Given the description of an element on the screen output the (x, y) to click on. 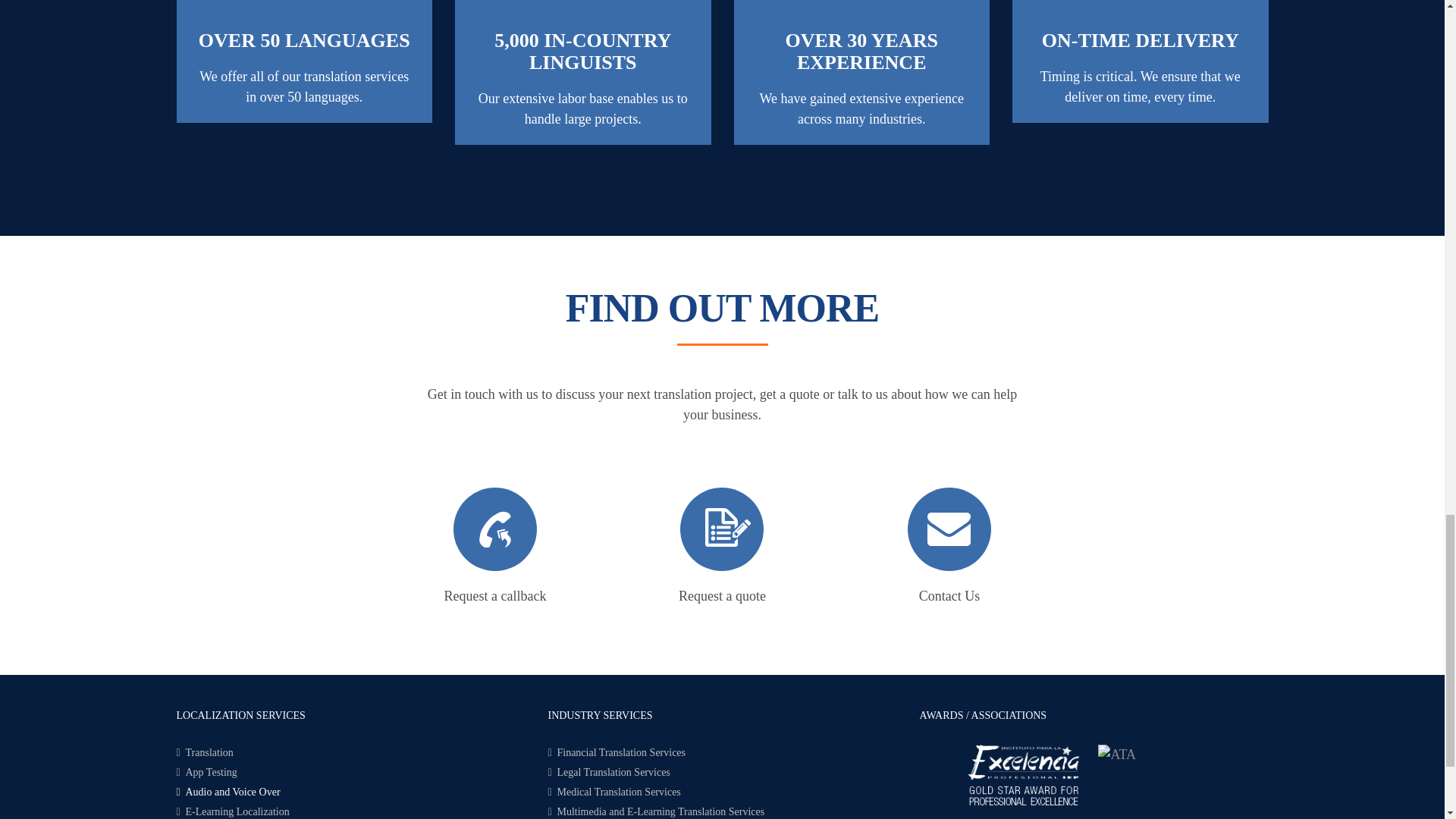
Contact Us (949, 596)
Request a quote (721, 596)
Audio and Voice Over (350, 791)
Translation (350, 752)
App Testing (350, 772)
Member of American Translators Association (1116, 754)
Gold Star Award for Professional Excellence (1024, 774)
E-Learning Localization (350, 811)
